Given the description of an element on the screen output the (x, y) to click on. 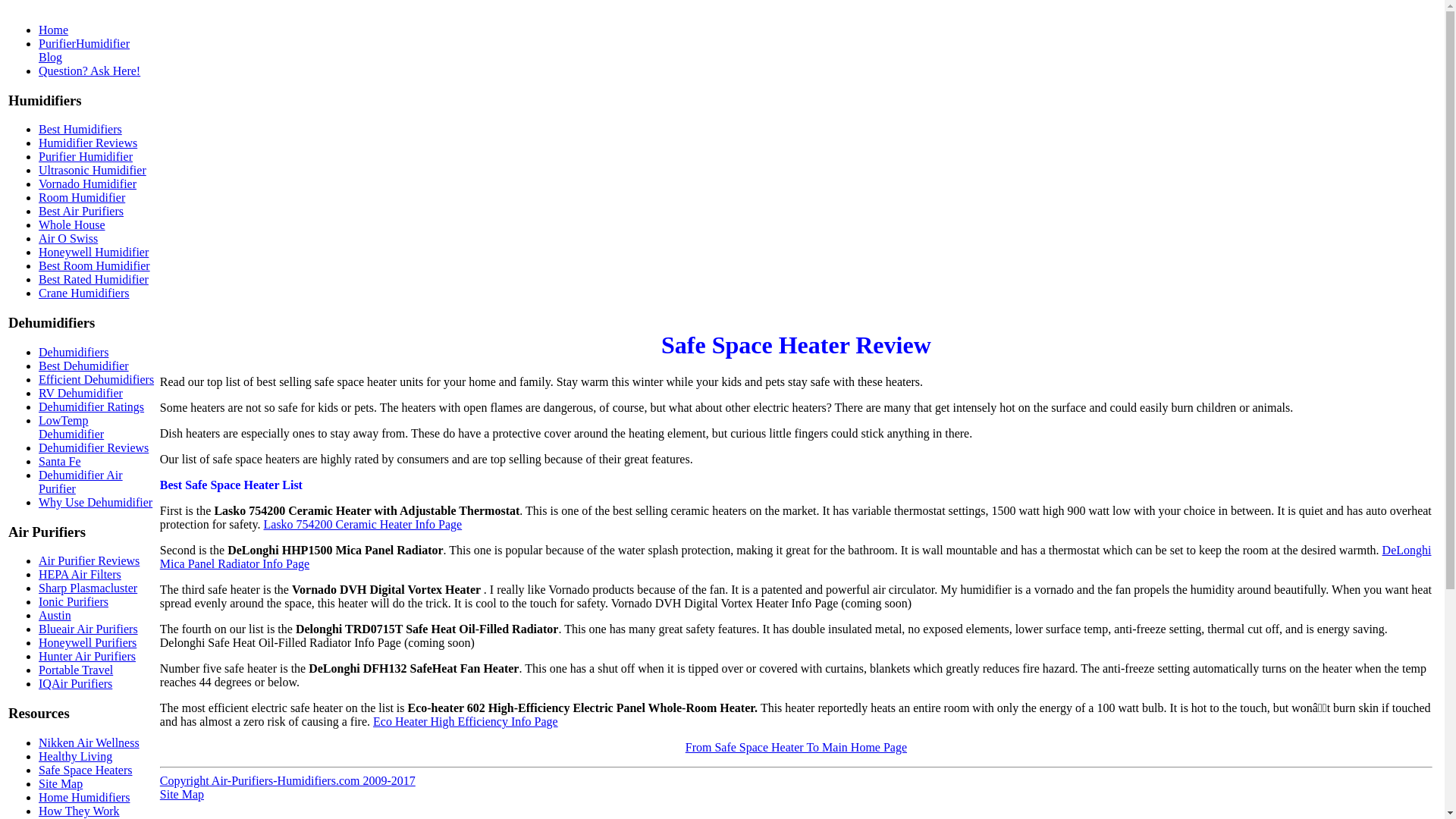
Question? Ask Here! (89, 70)
Ionic Purifiers (73, 601)
IQAir Purifiers (75, 683)
Ultrasonic Humidifier (93, 169)
Efficient Dehumidifiers (96, 379)
Hunter Air Purifiers (87, 656)
Dehumidifier Ratings (91, 406)
Best Room Humidifier (94, 265)
Best Rated Humidifier (93, 278)
Nikken Air Wellness (89, 742)
Best Air Purifiers (81, 210)
Why Use Dehumidifier (95, 502)
Sharp Plasmacluster (87, 587)
Dehumidifiers (73, 351)
Purifier Humidifier (85, 155)
